Given the description of an element on the screen output the (x, y) to click on. 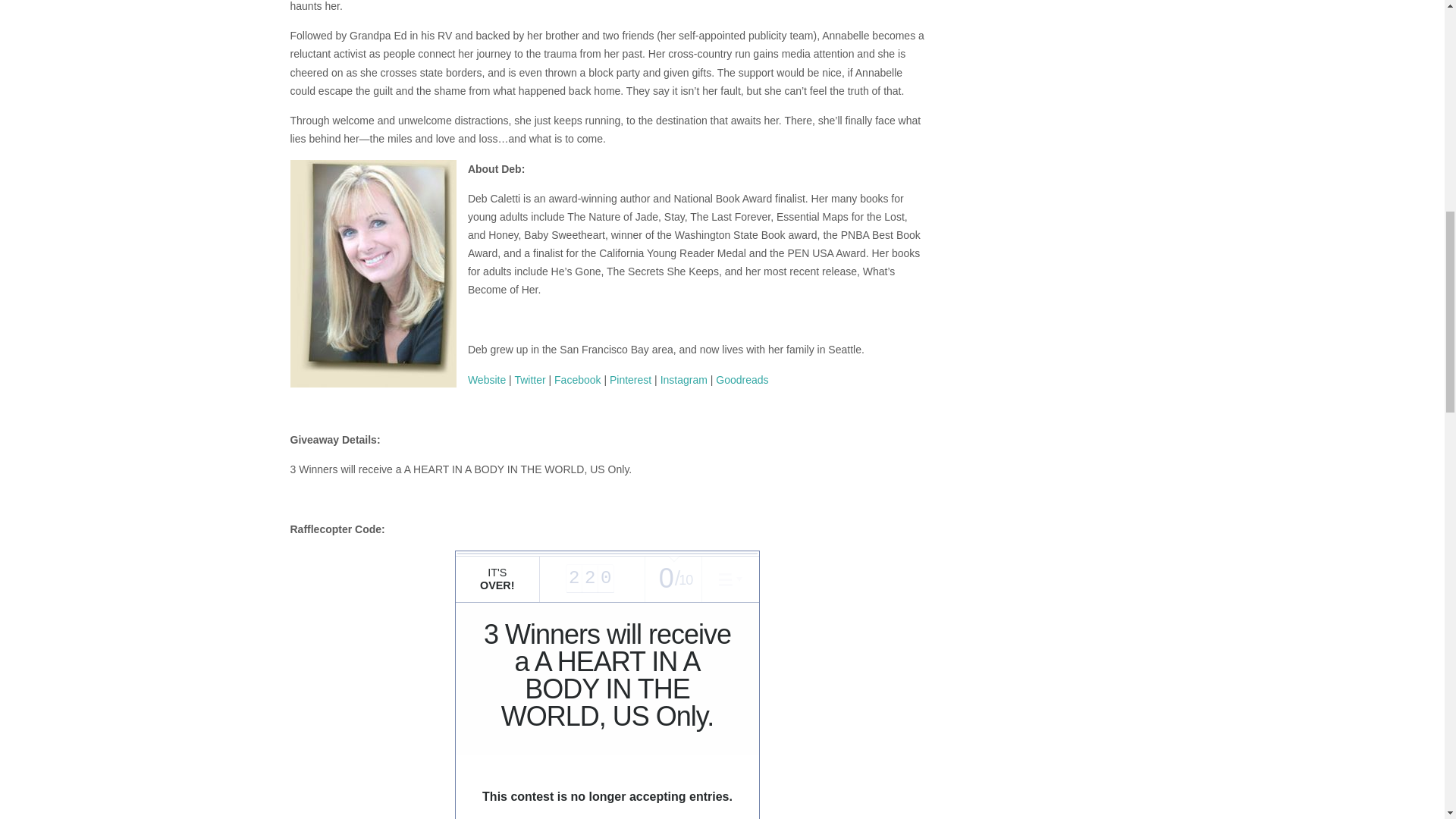
Instagram (684, 379)
Twitter (528, 379)
Goodreads (742, 379)
Pinterest (630, 379)
Facebook (576, 379)
Website (486, 379)
